Given the description of an element on the screen output the (x, y) to click on. 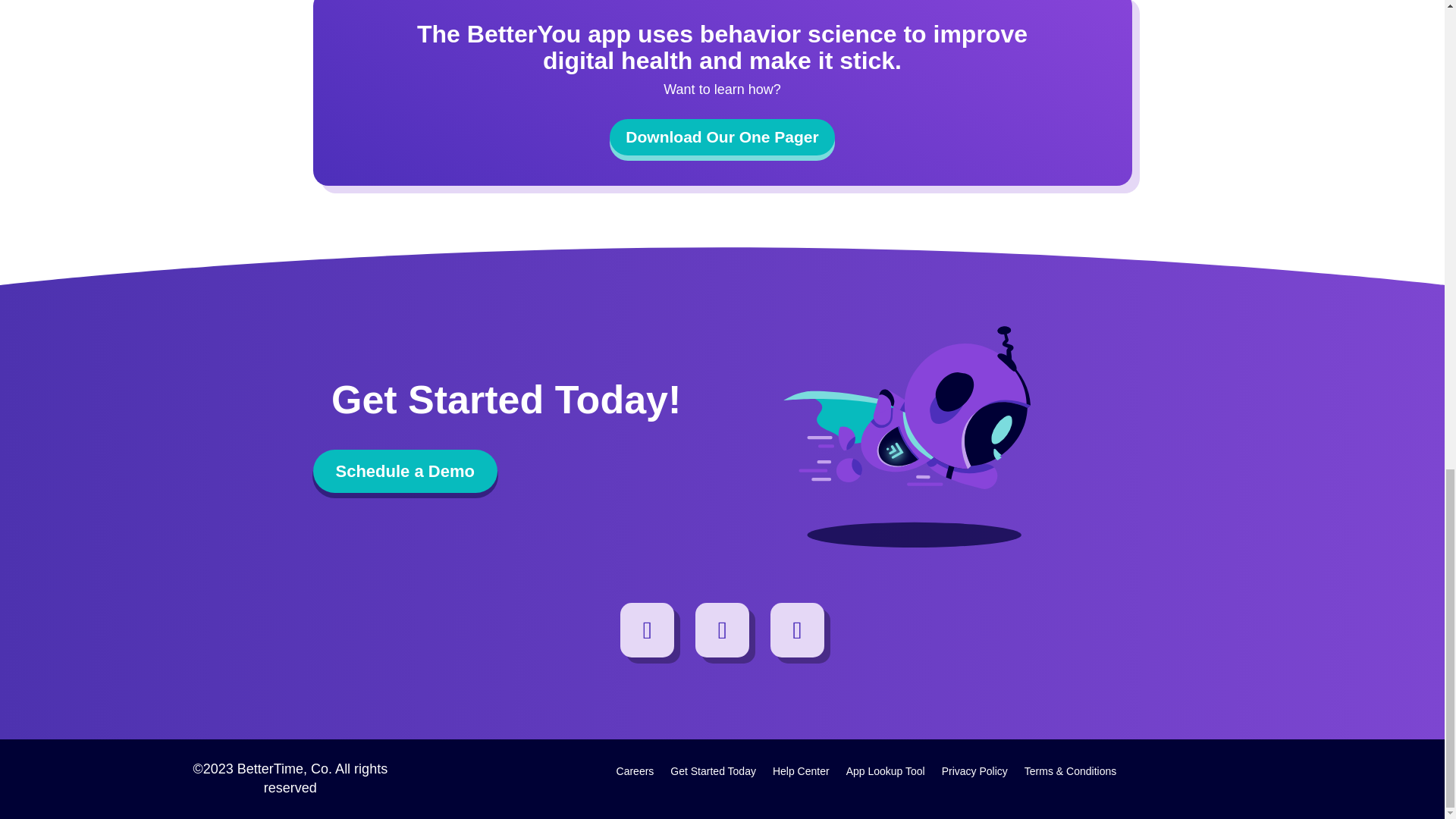
Download Our One Pager (722, 136)
Follow on Instagram (647, 629)
Privacy Policy (974, 773)
Careers (634, 773)
Follow on TikTok (797, 629)
Follow on LinkedIn (722, 629)
Help Center (801, 773)
super-betterbot (938, 436)
App Lookup Tool (884, 773)
Get Started Today (712, 773)
Schedule a Demo (404, 471)
